Given the description of an element on the screen output the (x, y) to click on. 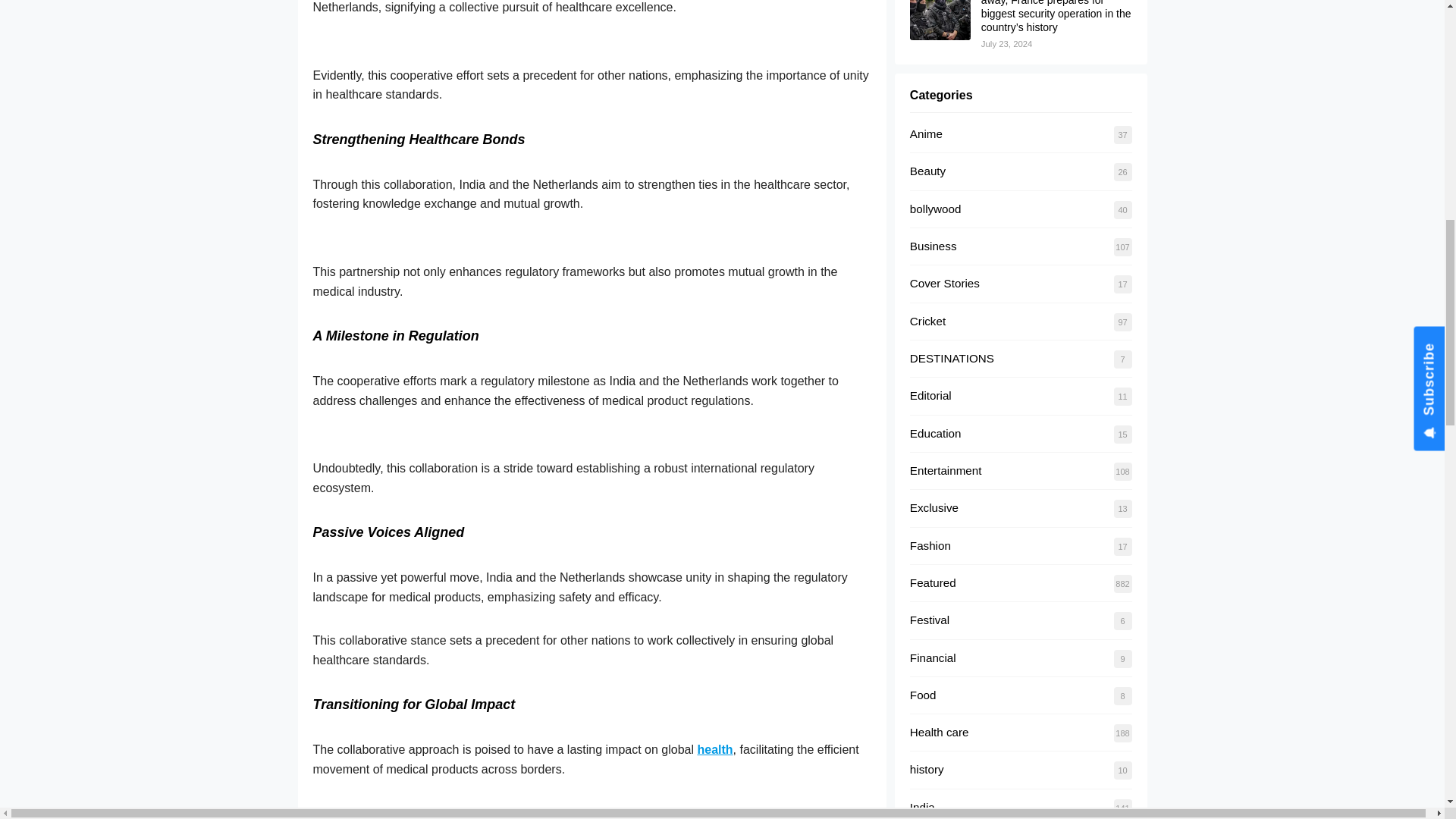
health (714, 748)
